Given the description of an element on the screen output the (x, y) to click on. 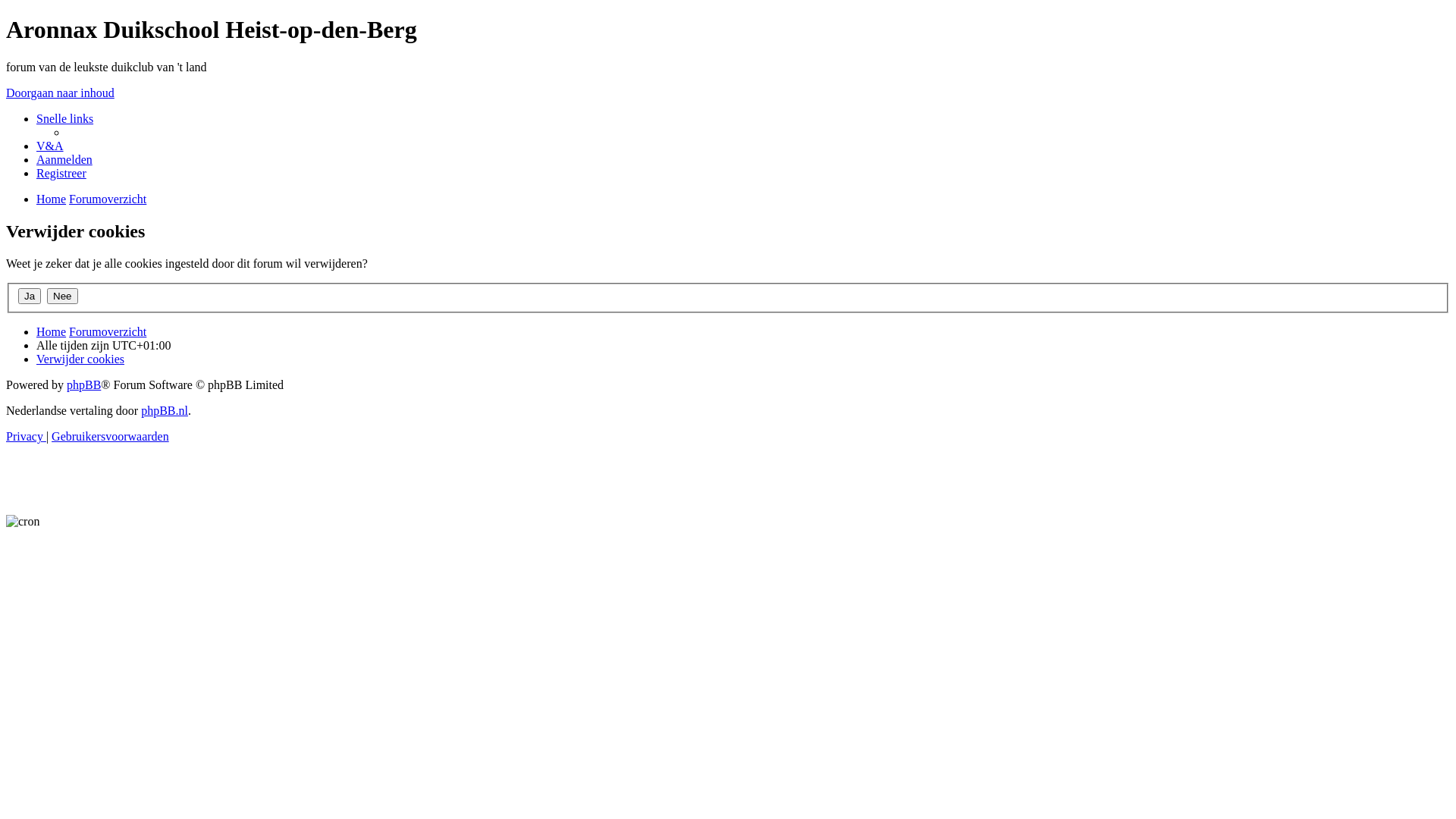
Forumoverzicht Element type: text (107, 198)
Registreer Element type: text (61, 172)
Doorgaan naar inhoud Element type: text (60, 92)
Verwijder cookies Element type: text (80, 358)
Gebruikersvoorwaarden Element type: text (110, 435)
Ja Element type: text (29, 296)
phpBB Element type: text (83, 384)
Nee Element type: text (62, 296)
phpBB.nl Element type: text (164, 410)
Aanmelden Element type: text (64, 159)
Home Element type: text (50, 331)
Home Element type: text (50, 198)
V&A Element type: text (49, 145)
Forumoverzicht Element type: text (107, 331)
Privacy Element type: text (26, 435)
Snelle links Element type: text (64, 118)
